Given the description of an element on the screen output the (x, y) to click on. 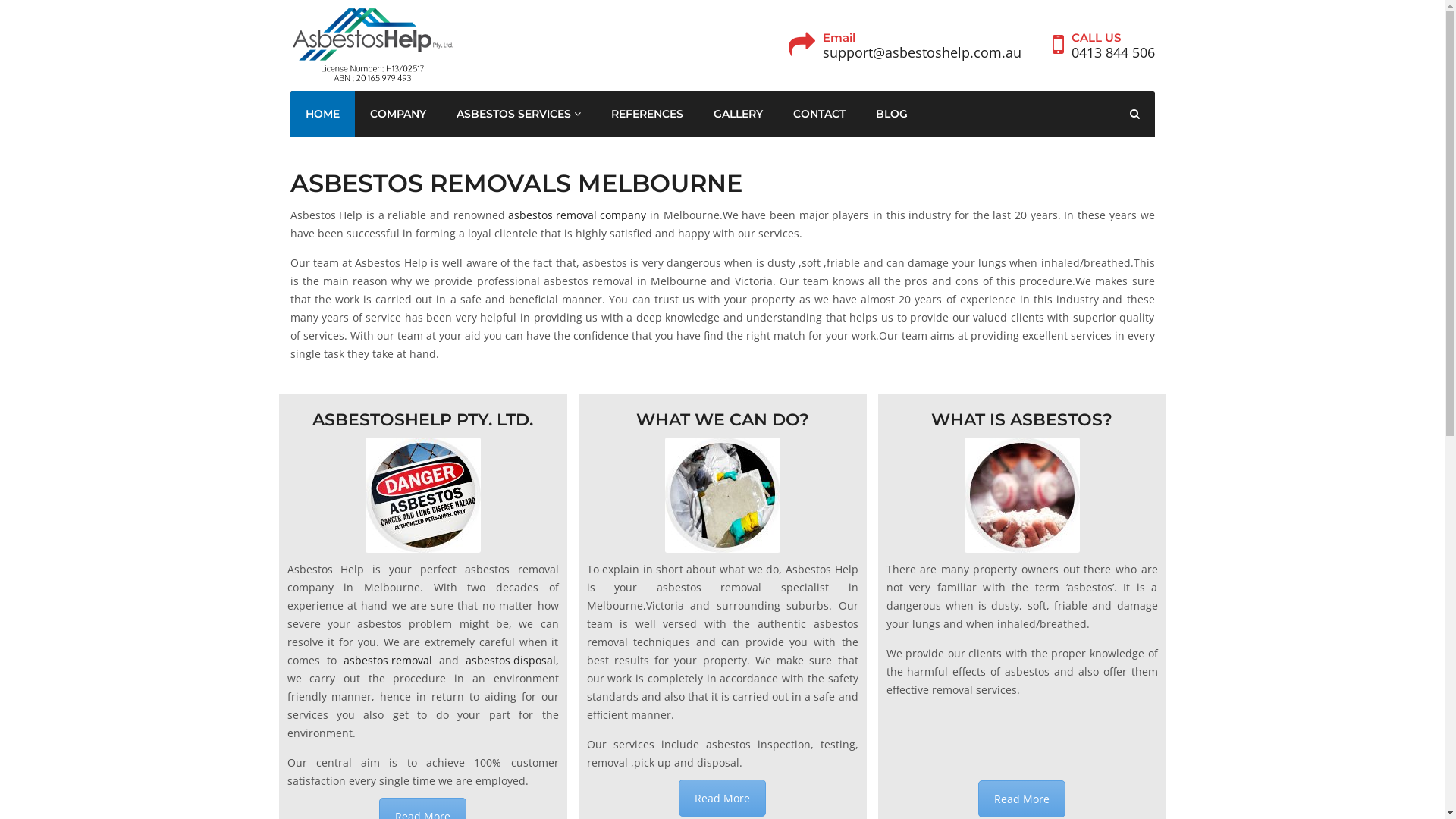
CONTACT Element type: text (819, 113)
asbestos removal Element type: text (386, 660)
asbestos disposal, Element type: text (511, 660)
support@asbestoshelp.com.au Element type: text (921, 52)
BLOG Element type: text (890, 113)
ASBESTOS SERVICES Element type: text (518, 113)
COMPANY Element type: text (397, 113)
asbestos removal company Element type: text (577, 215)
HOME Element type: text (321, 113)
Read More Element type: text (1021, 798)
REFERENCES Element type: text (647, 113)
GALLERY Element type: text (737, 113)
0413 844 506 Element type: text (1112, 52)
Read More Element type: text (721, 797)
